Given the description of an element on the screen output the (x, y) to click on. 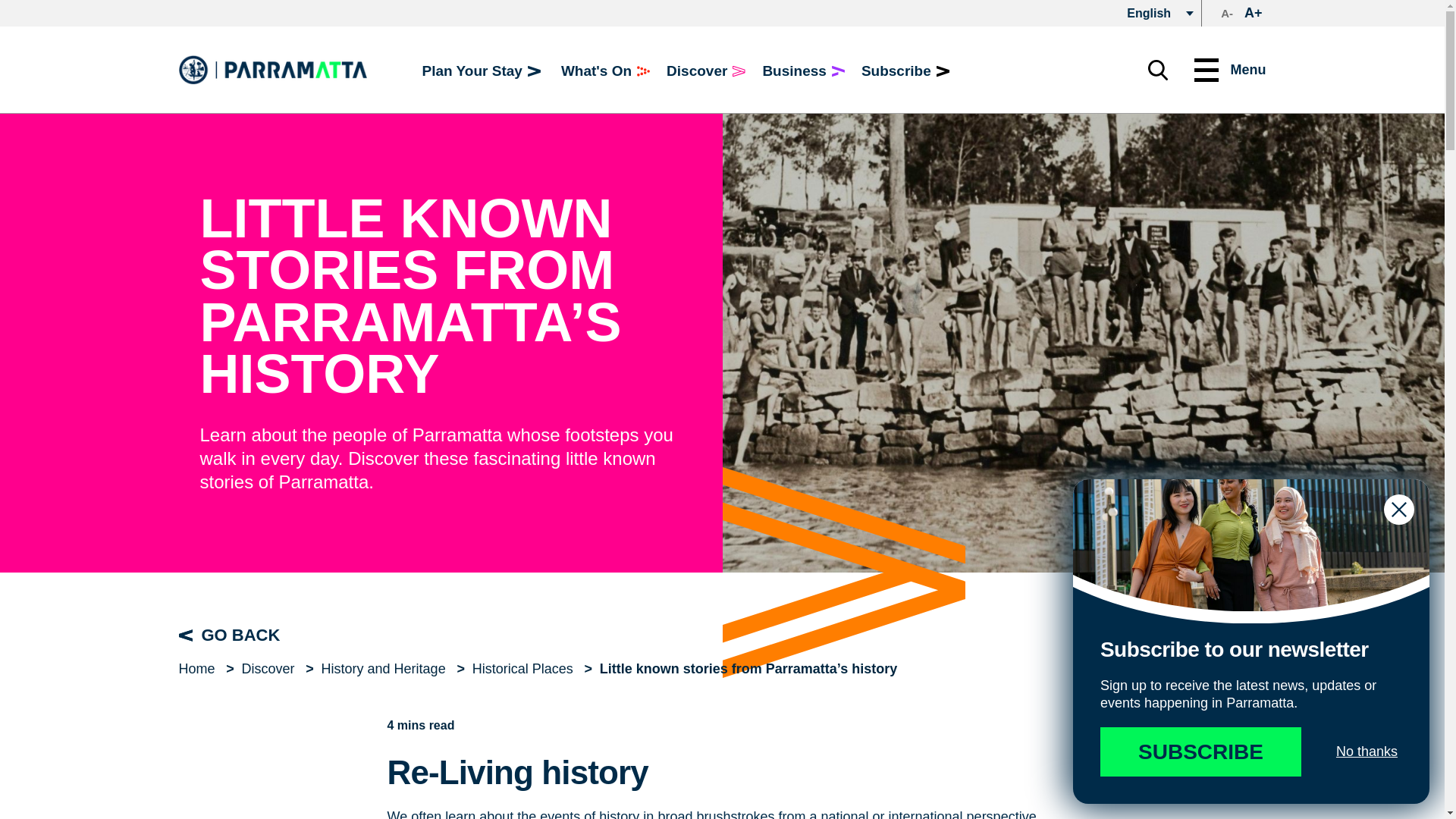
Search (1157, 68)
A- (1226, 13)
Find (949, 68)
English (1152, 13)
Subscribe (905, 71)
